Given the description of an element on the screen output the (x, y) to click on. 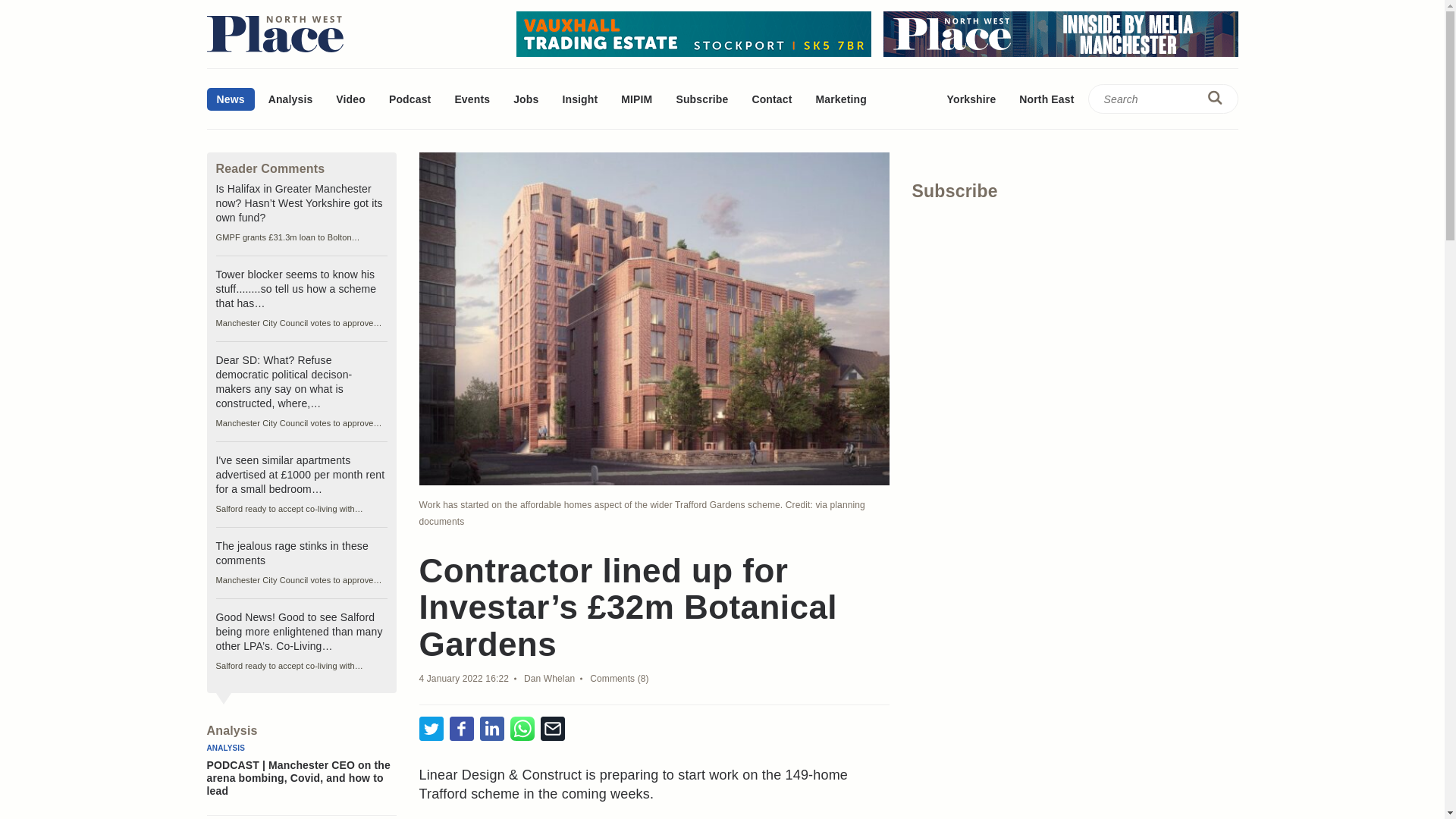
Subscribe (701, 98)
Events (471, 98)
Share by Email (552, 729)
Share on Twiiter (430, 729)
Marketing (840, 98)
Video (350, 98)
North East (1046, 98)
Podcast (409, 98)
MIPIM (636, 98)
Share on Facebook (460, 729)
